Given the description of an element on the screen output the (x, y) to click on. 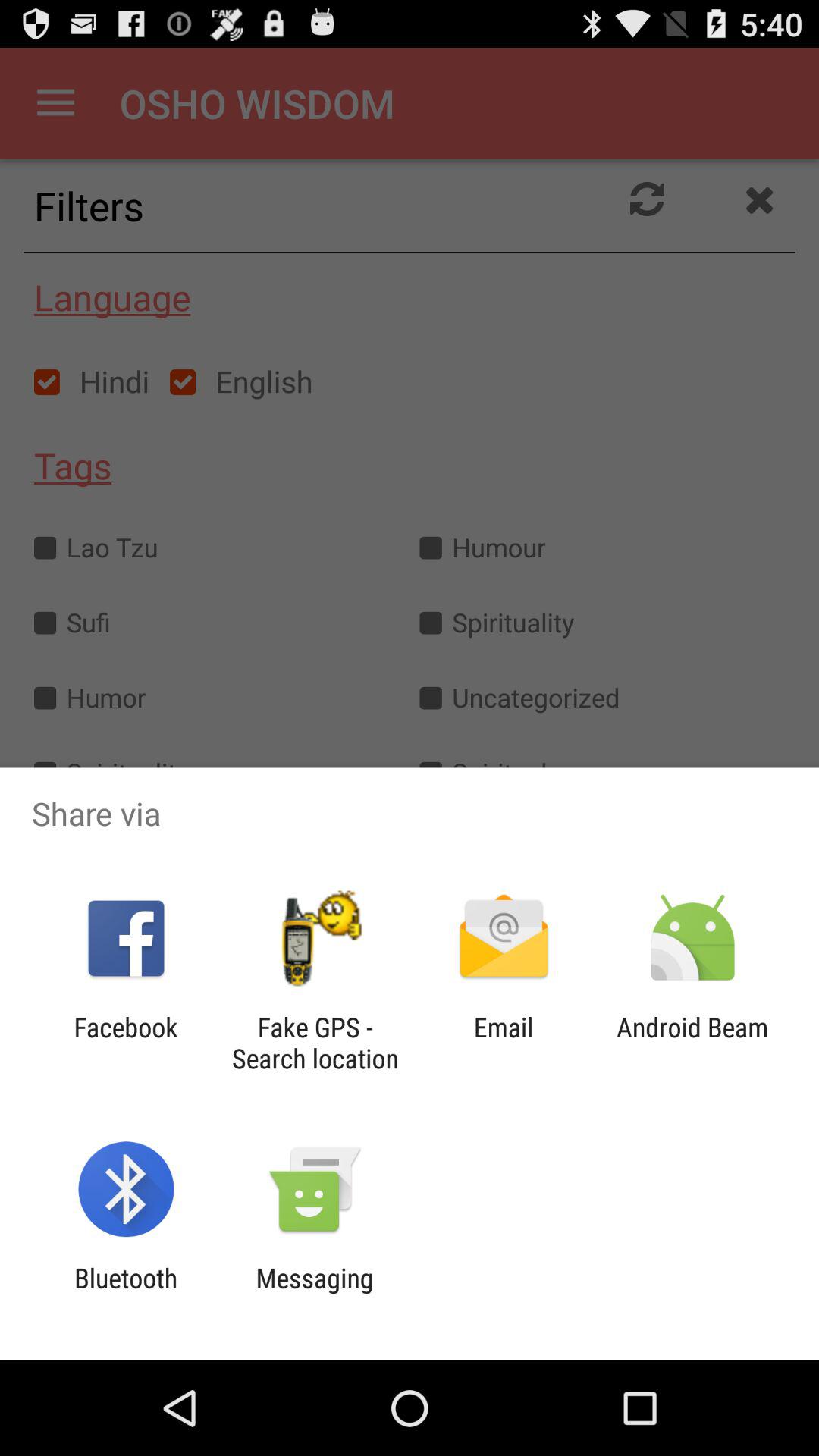
open messaging app (314, 1293)
